Given the description of an element on the screen output the (x, y) to click on. 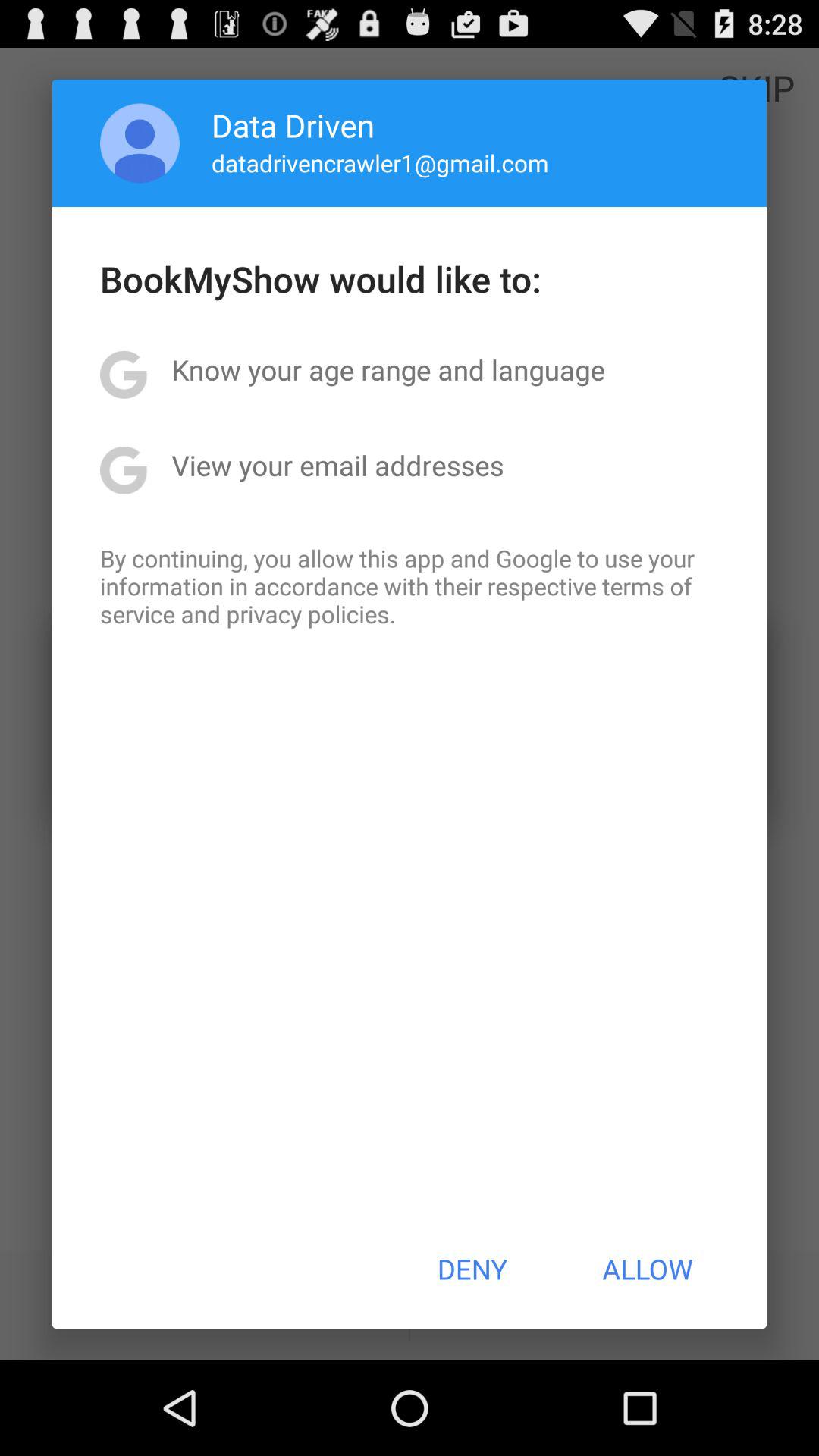
jump to the deny button (471, 1268)
